Given the description of an element on the screen output the (x, y) to click on. 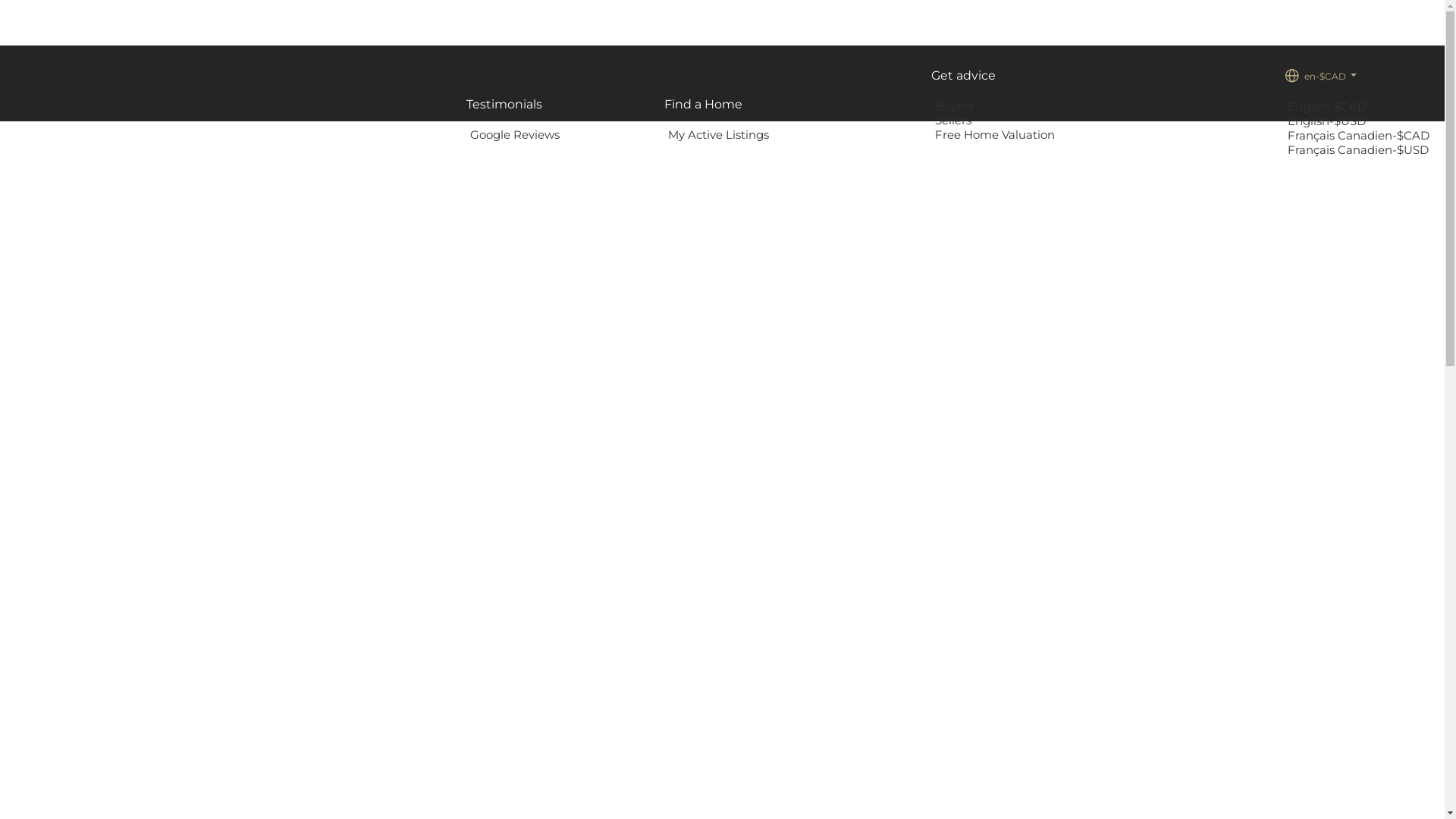
ABOUT ME Element type: text (615, 134)
English-$USD Element type: text (1328, 120)
English-$CAD Element type: text (1328, 106)
My Active Listings Element type: text (720, 134)
Buyers Element type: text (955, 105)
Get advice Element type: text (963, 75)
Mortgage Calculator Element type: text (853, 134)
Sellers Element type: text (954, 119)
Testimonials Element type: text (503, 104)
Find a Home Element type: text (702, 104)
Free Home Valuation Element type: text (996, 134)
Google Reviews Element type: text (516, 134)
HOME Element type: text (431, 134)
en-$CAD Element type: text (1320, 75)
Royal Kelowna Vacation Homes Element type: text (1173, 134)
